Given the description of an element on the screen output the (x, y) to click on. 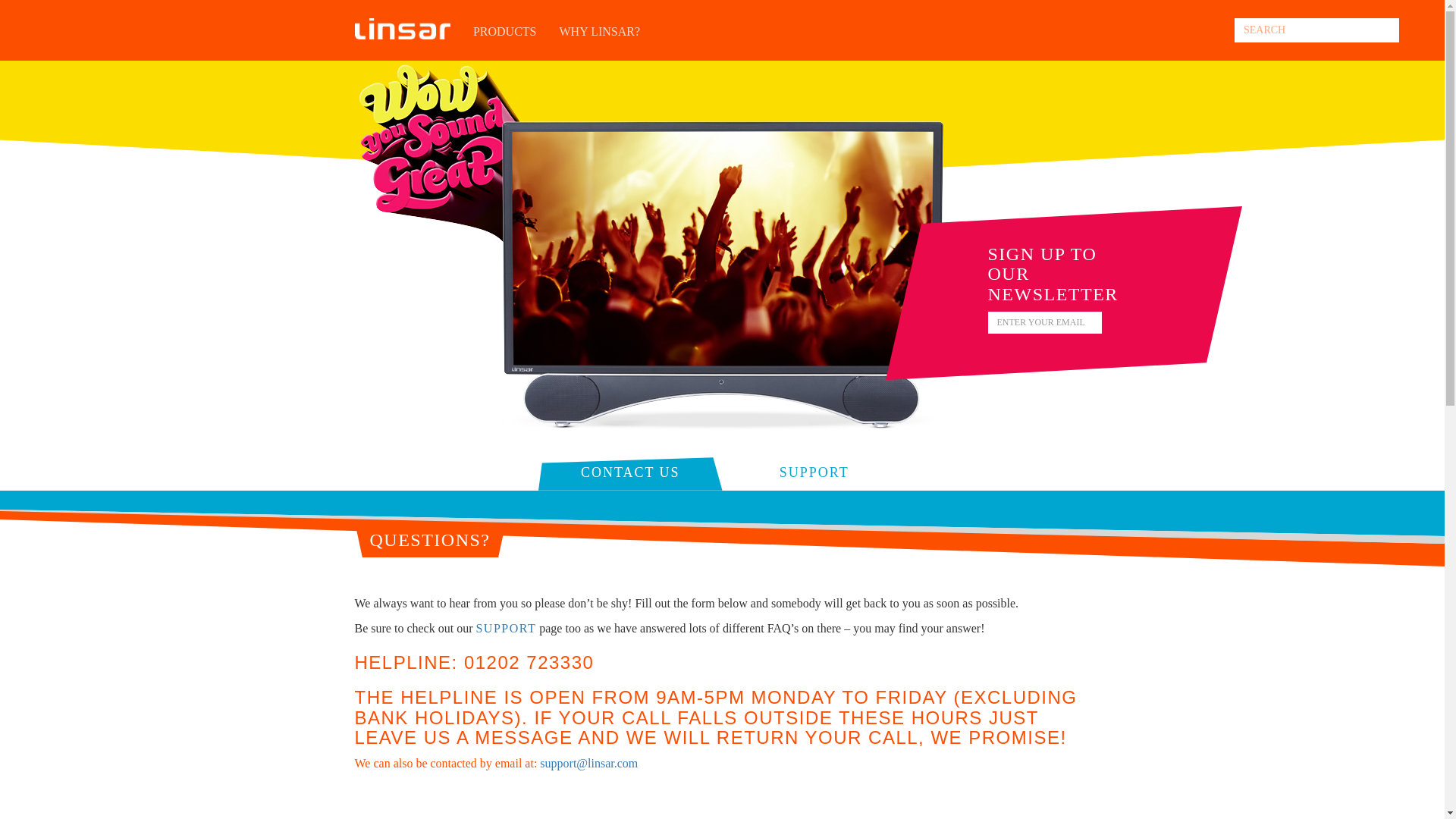
SUPPORT (814, 472)
SUPPORT (505, 627)
CONTACT US (630, 472)
Why Linsar? (600, 41)
Products (504, 41)
PRODUCTS (504, 41)
WHY LINSAR? (600, 41)
